Given the description of an element on the screen output the (x, y) to click on. 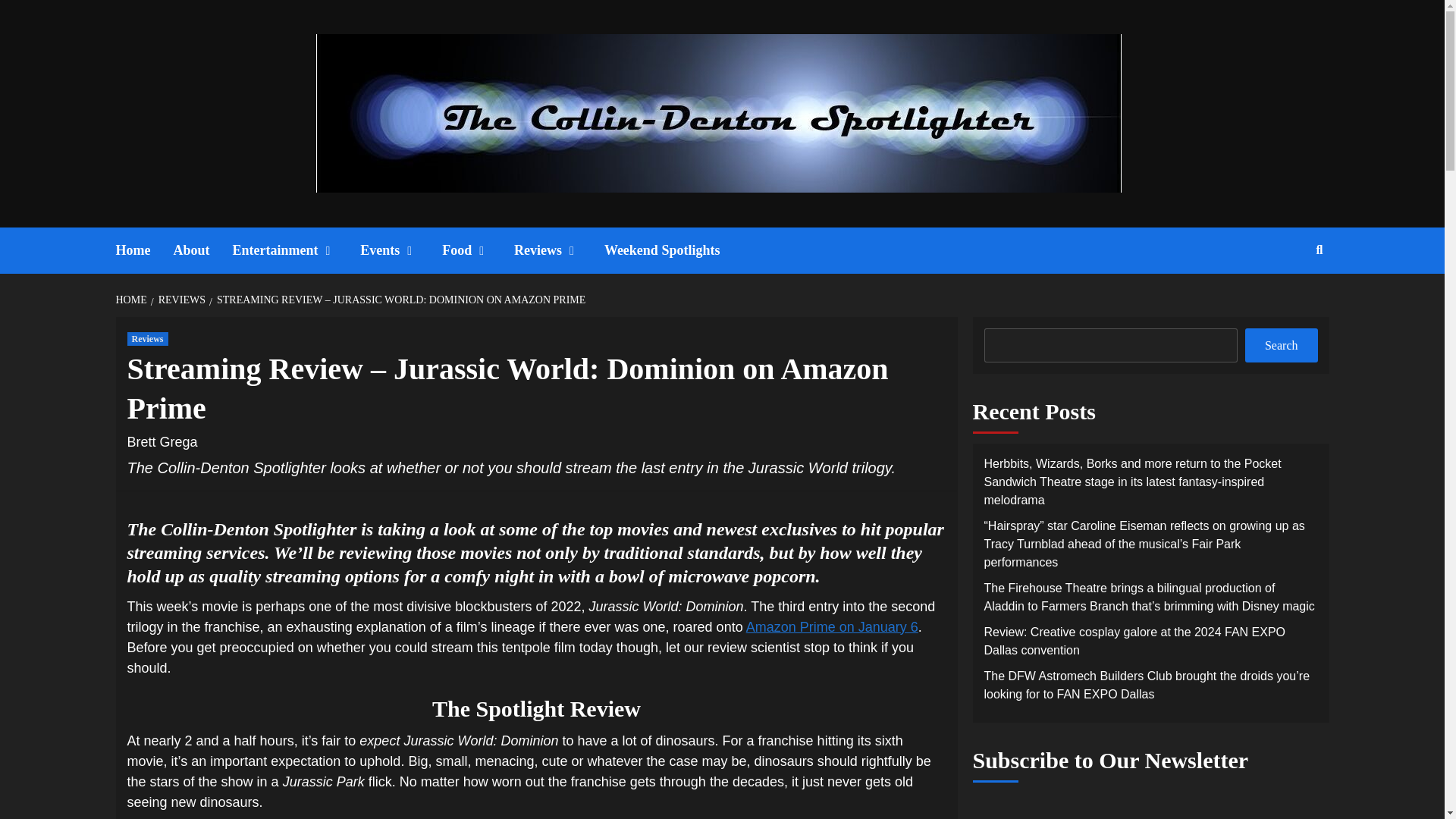
Brett Grega (163, 441)
Reviews (148, 338)
Food (477, 250)
Amazon Prime on January 6 (831, 626)
REVIEWS (180, 299)
Reviews (558, 250)
HOME (132, 299)
Entertainment (295, 250)
Home (144, 250)
Weekend Spotlights (673, 250)
Search (1283, 298)
About (202, 250)
Events (400, 250)
